Given the description of an element on the screen output the (x, y) to click on. 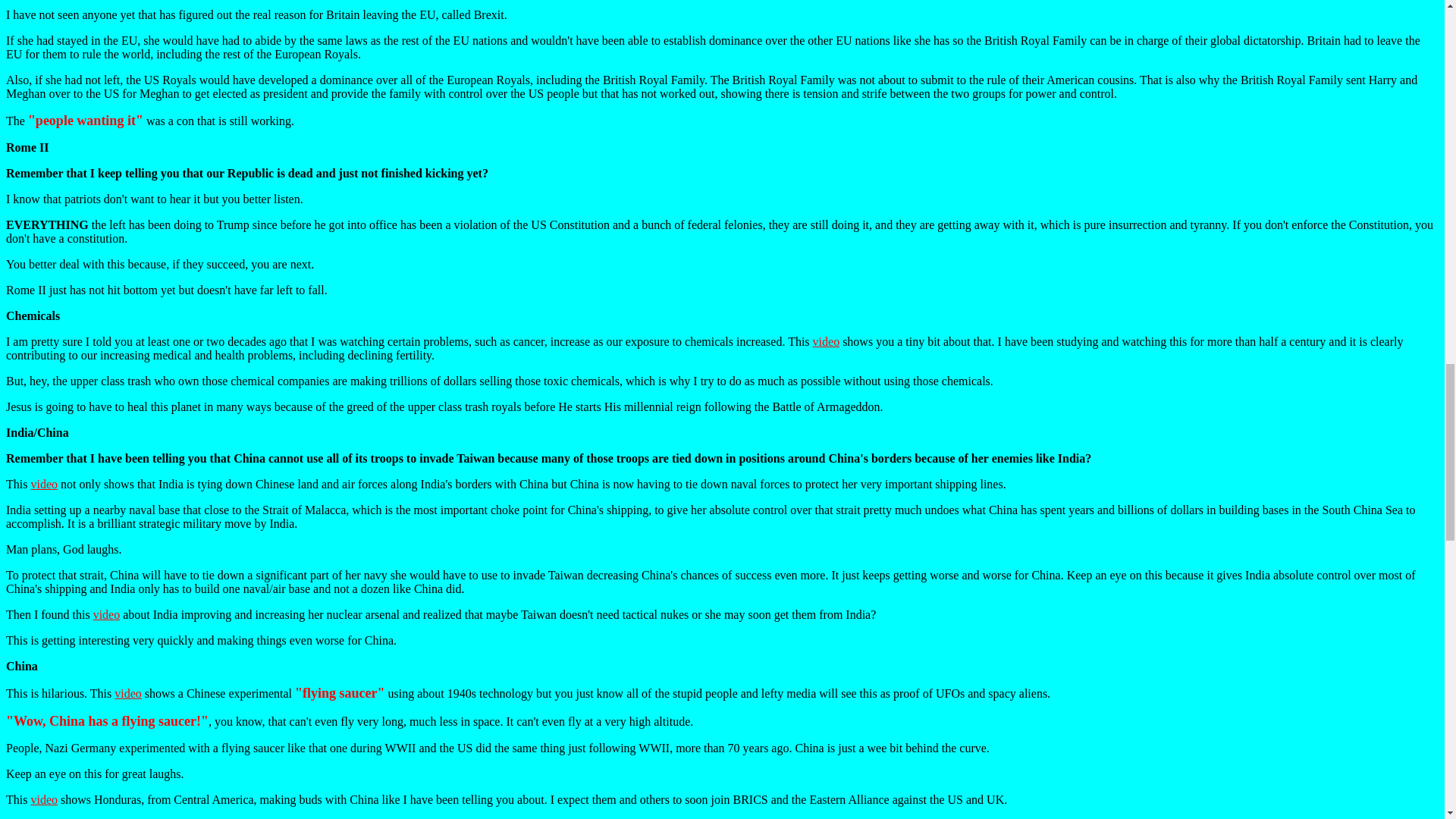
video (128, 693)
video (44, 799)
video (106, 614)
video (826, 341)
video (44, 483)
